Given the description of an element on the screen output the (x, y) to click on. 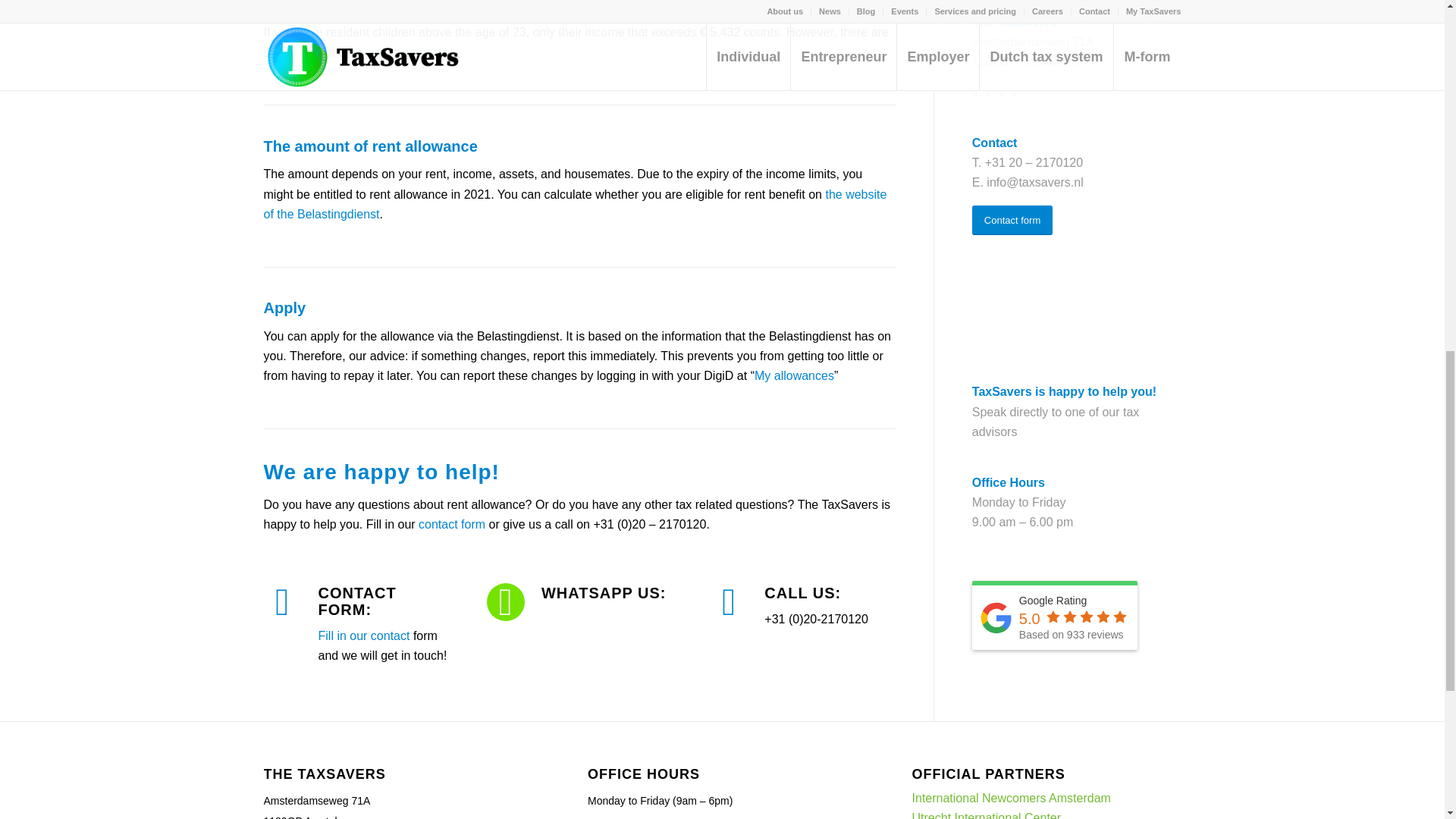
contact form (451, 523)
Fill in our contact (364, 635)
My allowances (794, 375)
the website of the Belastingdienst (574, 204)
special situations. (400, 51)
